Given the description of an element on the screen output the (x, y) to click on. 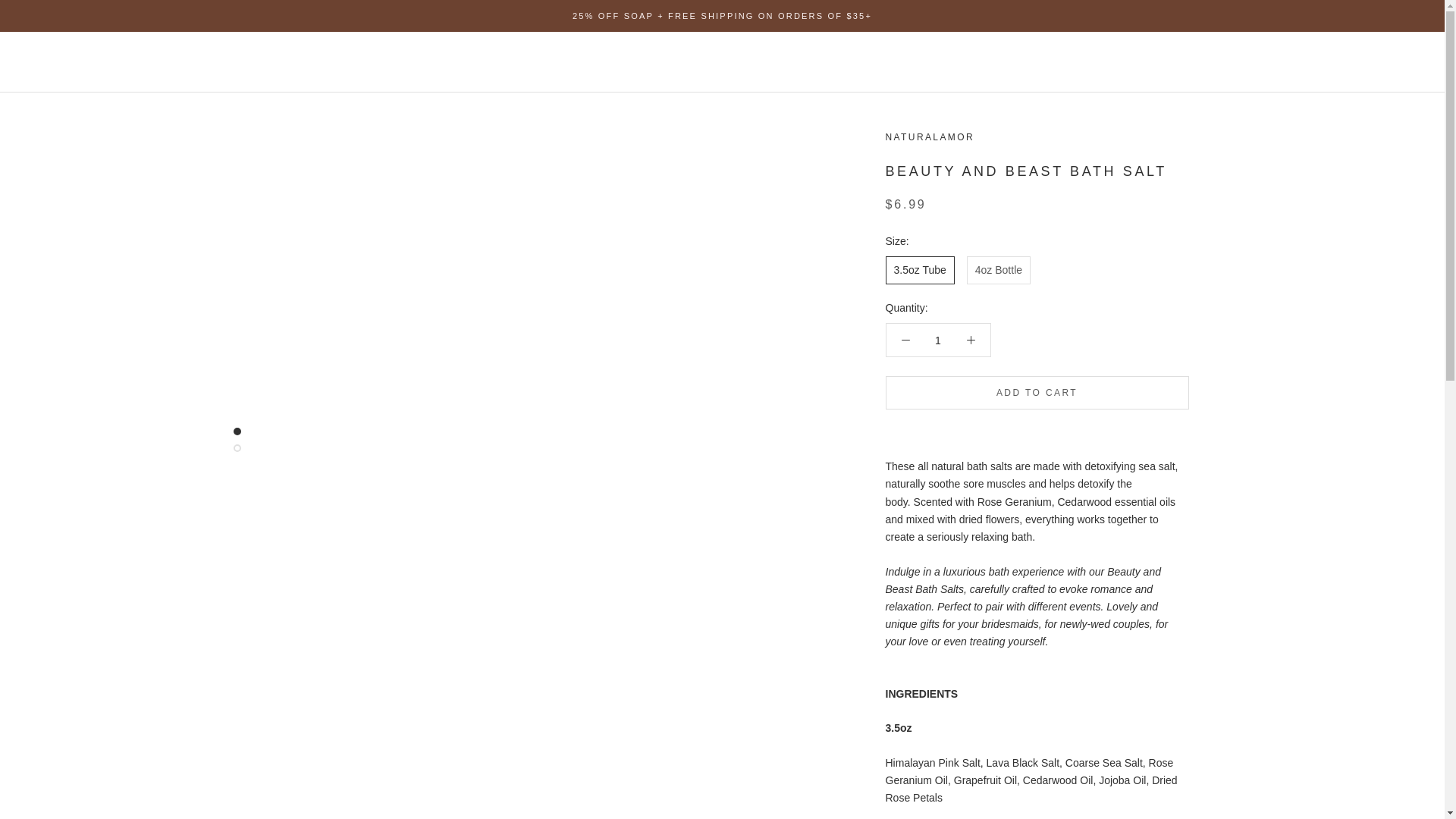
1 (938, 340)
